Given the description of an element on the screen output the (x, y) to click on. 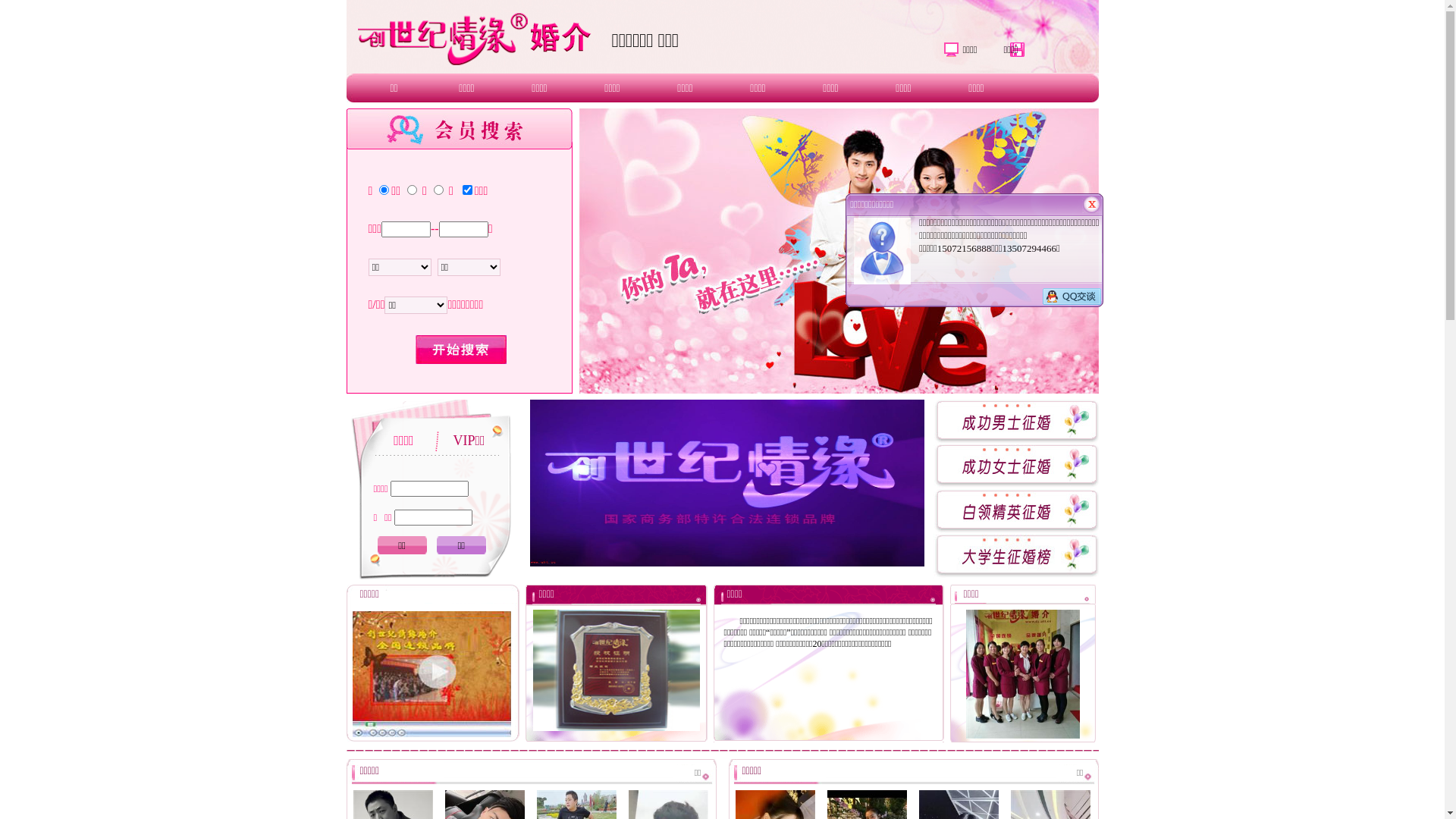
on Element type: text (467, 189)
  Element type: text (460, 349)
